Given the description of an element on the screen output the (x, y) to click on. 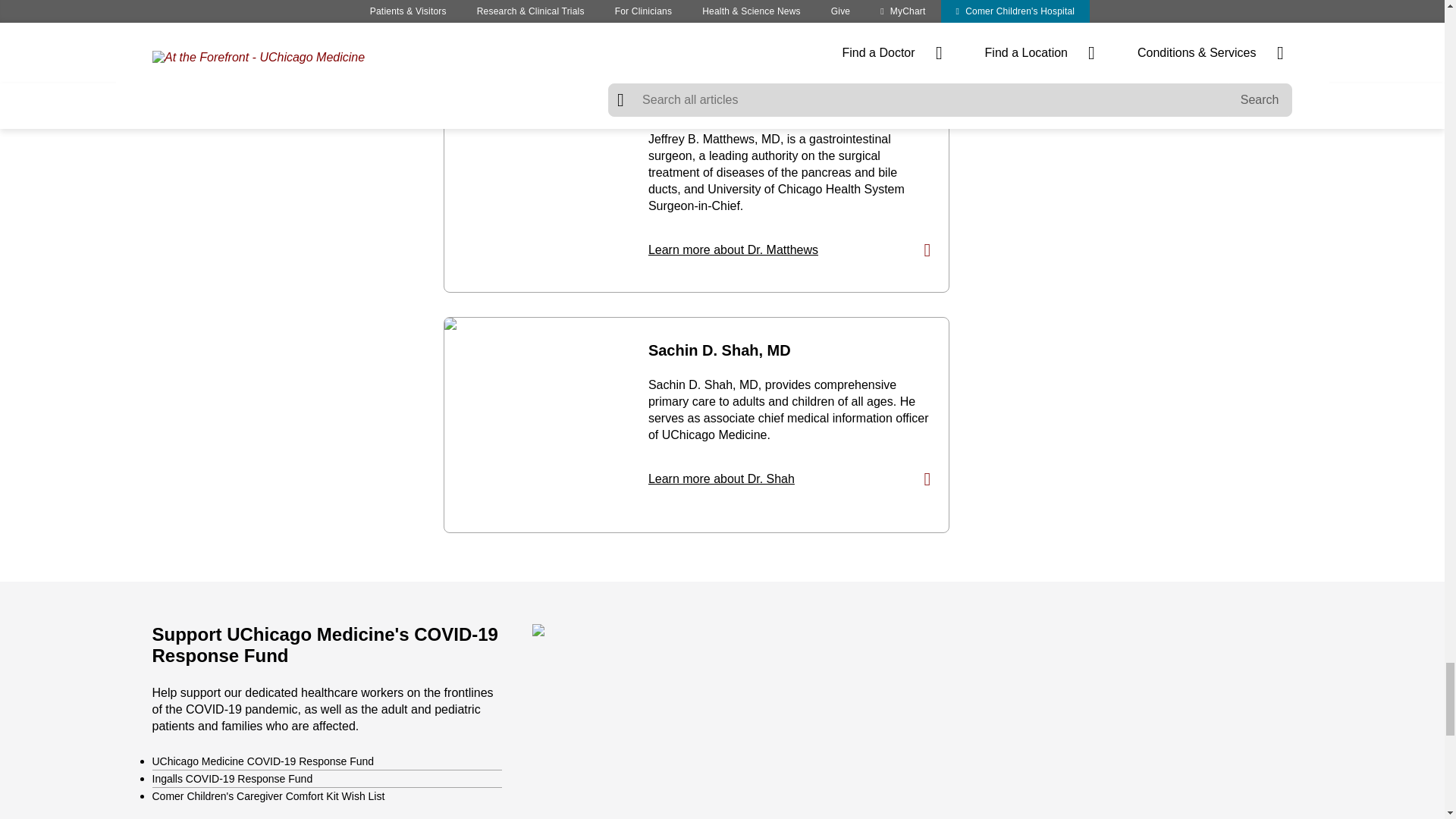
UChicago Medicine COVID-19 Response Fund (262, 761)
Ingalls COVID-19 Response Fund (232, 778)
Comer Children's Caregiver Comfort Kit Wish List (267, 796)
Learn more about Dr. Matthews (788, 249)
Learn more about Dr. Shah (788, 478)
